Given the description of an element on the screen output the (x, y) to click on. 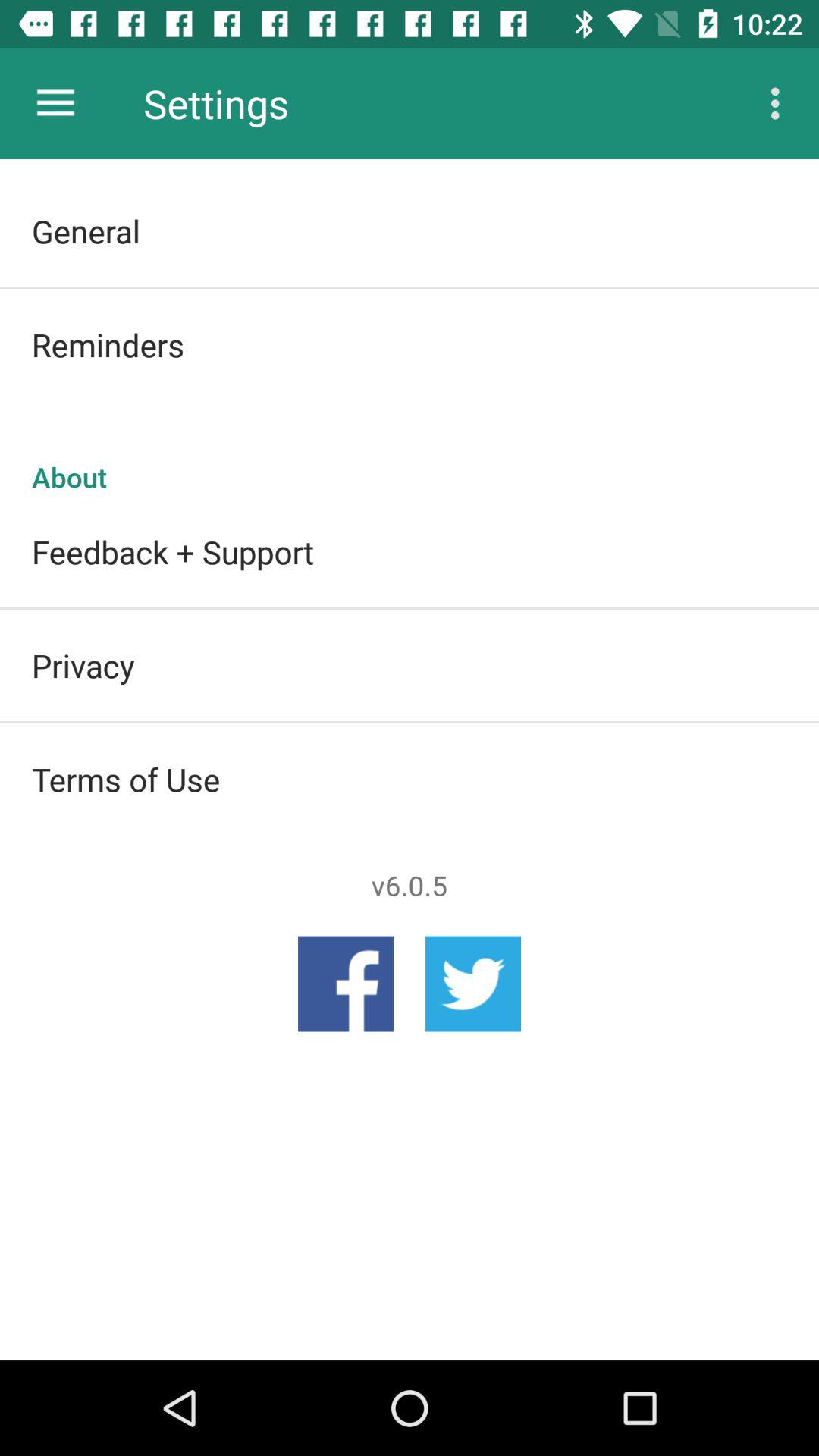
scroll to the terms of use (409, 778)
